Given the description of an element on the screen output the (x, y) to click on. 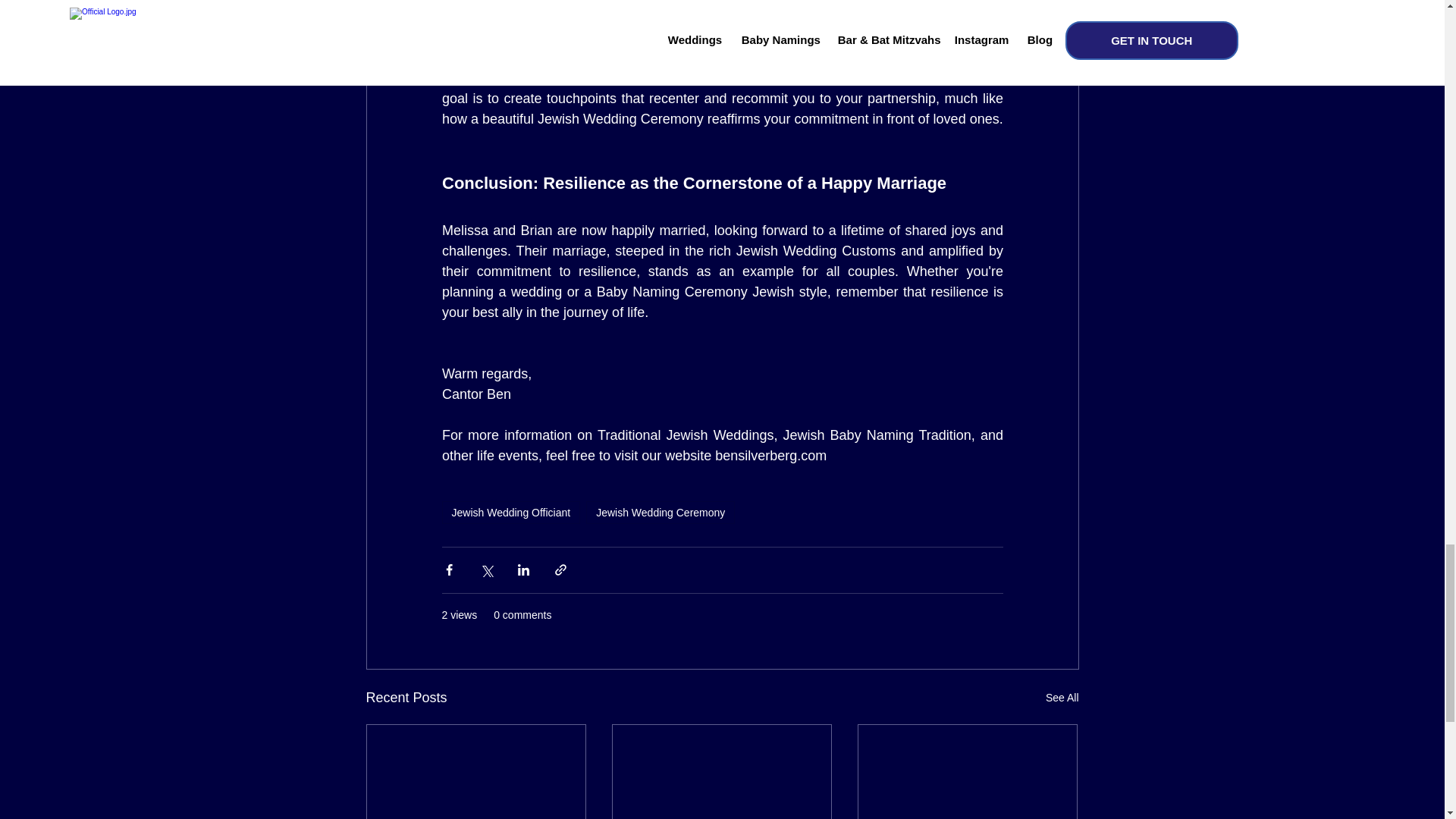
See All (1061, 698)
Jewish Wedding Ceremony (660, 512)
bensilverberg.com (770, 455)
Jewish Wedding Officiant (510, 512)
